Given the description of an element on the screen output the (x, y) to click on. 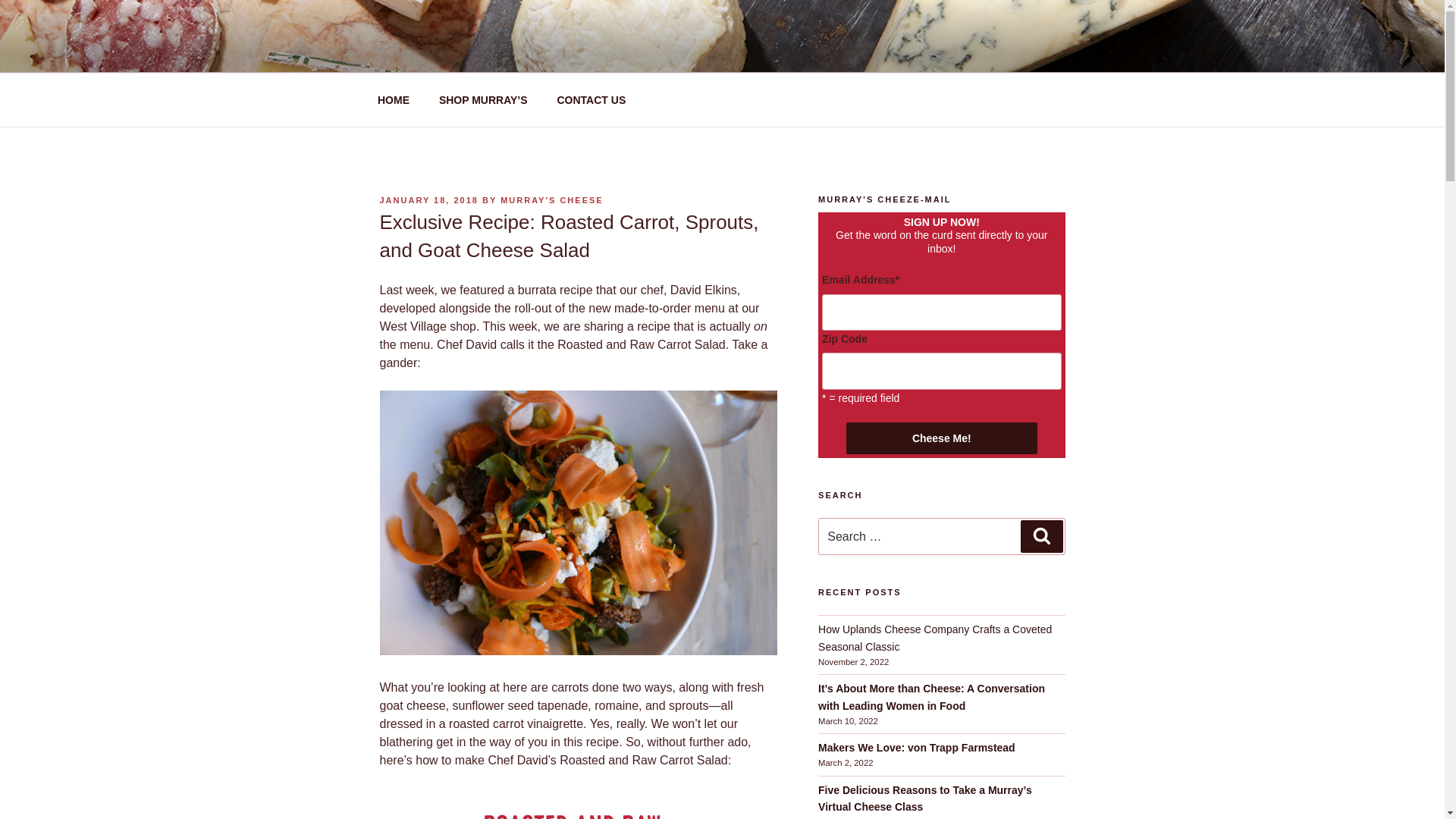
CONTACT US (591, 99)
MURRAY'S CHEESE BLOG (574, 52)
MURRAY'S CHEESE (552, 199)
Search (1041, 536)
HOME (393, 99)
Cheese Me! (940, 438)
Makers We Love: von Trapp Farmstead  (917, 747)
Cheese Me! (940, 438)
JANUARY 18, 2018 (427, 199)
